Given the description of an element on the screen output the (x, y) to click on. 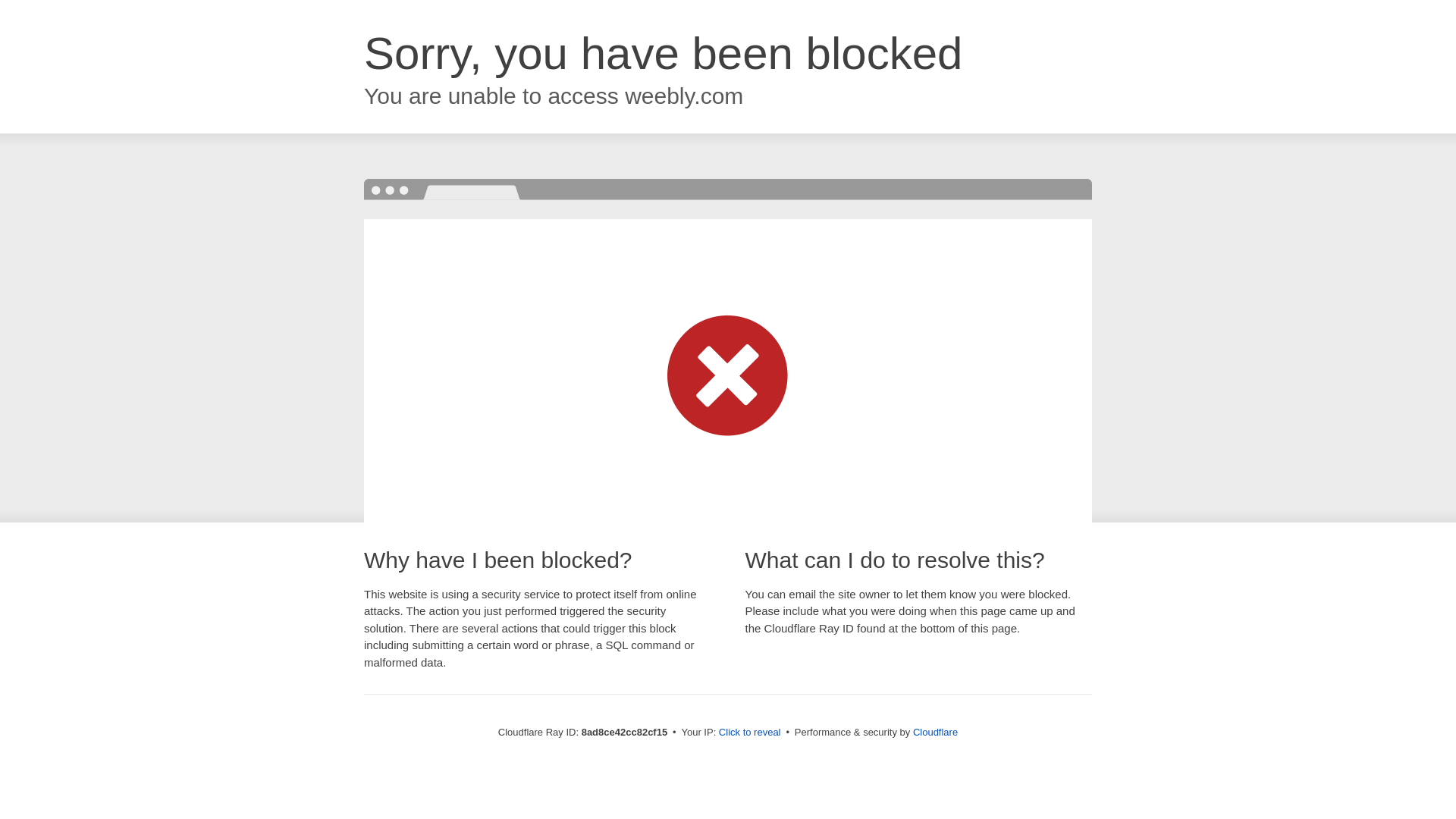
Cloudflare (935, 731)
Click to reveal (749, 732)
